Given the description of an element on the screen output the (x, y) to click on. 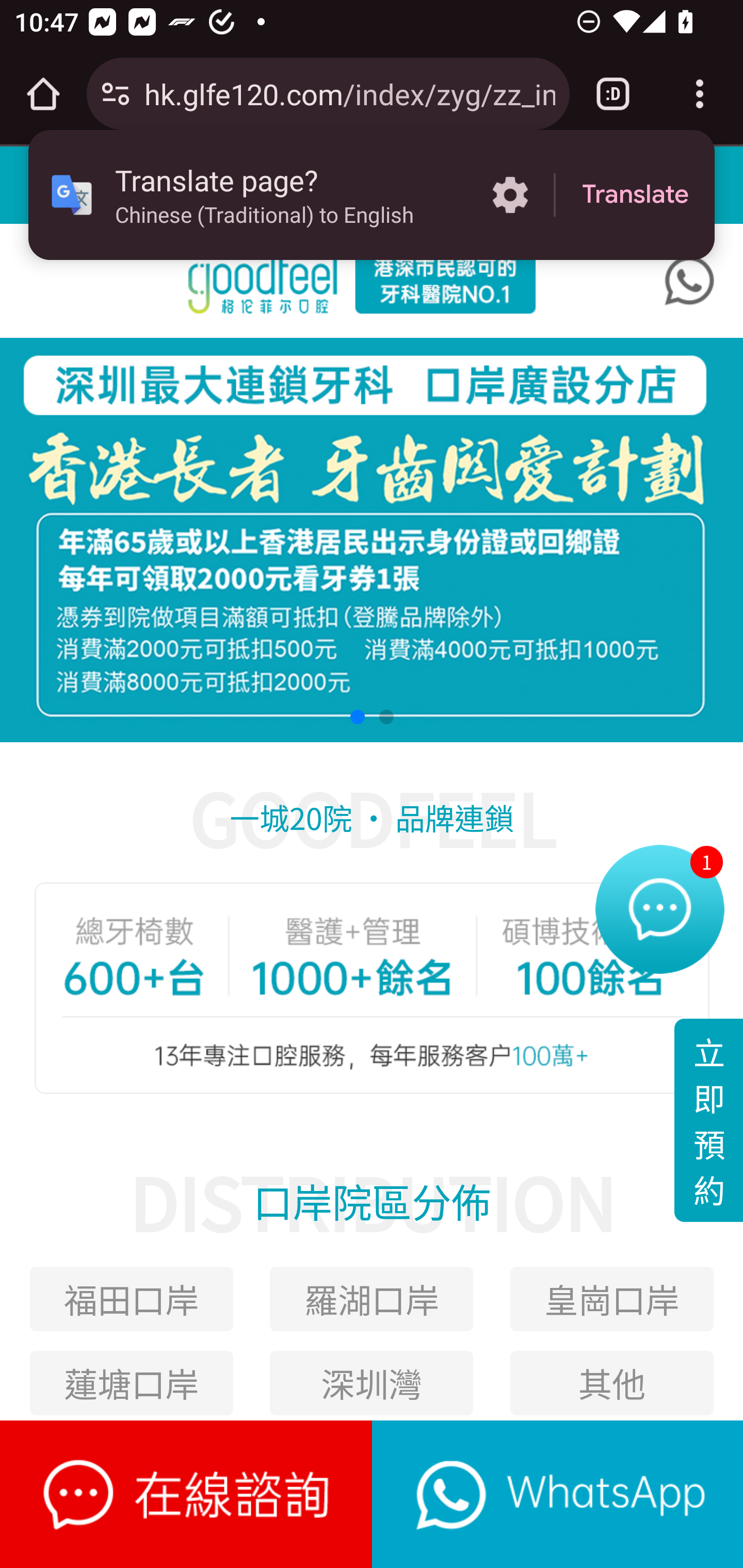
Open the home page (43, 93)
Connection is secure (115, 93)
Switch or close tabs (612, 93)
Customize and control Google Chrome (699, 93)
Translate (634, 195)
More options in the Translate page? (509, 195)
692056bef1a6f9a01fd225b4096c9e5f (689, 280)
1 fixed_swt_icon_1 1 (659, 914)
立 即 預 約 立 即 預 約 (708, 1120)
福田口岸 (131, 1298)
羅湖口岸 (371, 1298)
皇崗口岸 (611, 1298)
蓮塘口岸 (131, 1382)
深圳灣 (371, 1382)
其他 (612, 1382)
javascript:lrminiMax(); (186, 1493)
javascript:addMessage(); (557, 1493)
